Given the description of an element on the screen output the (x, y) to click on. 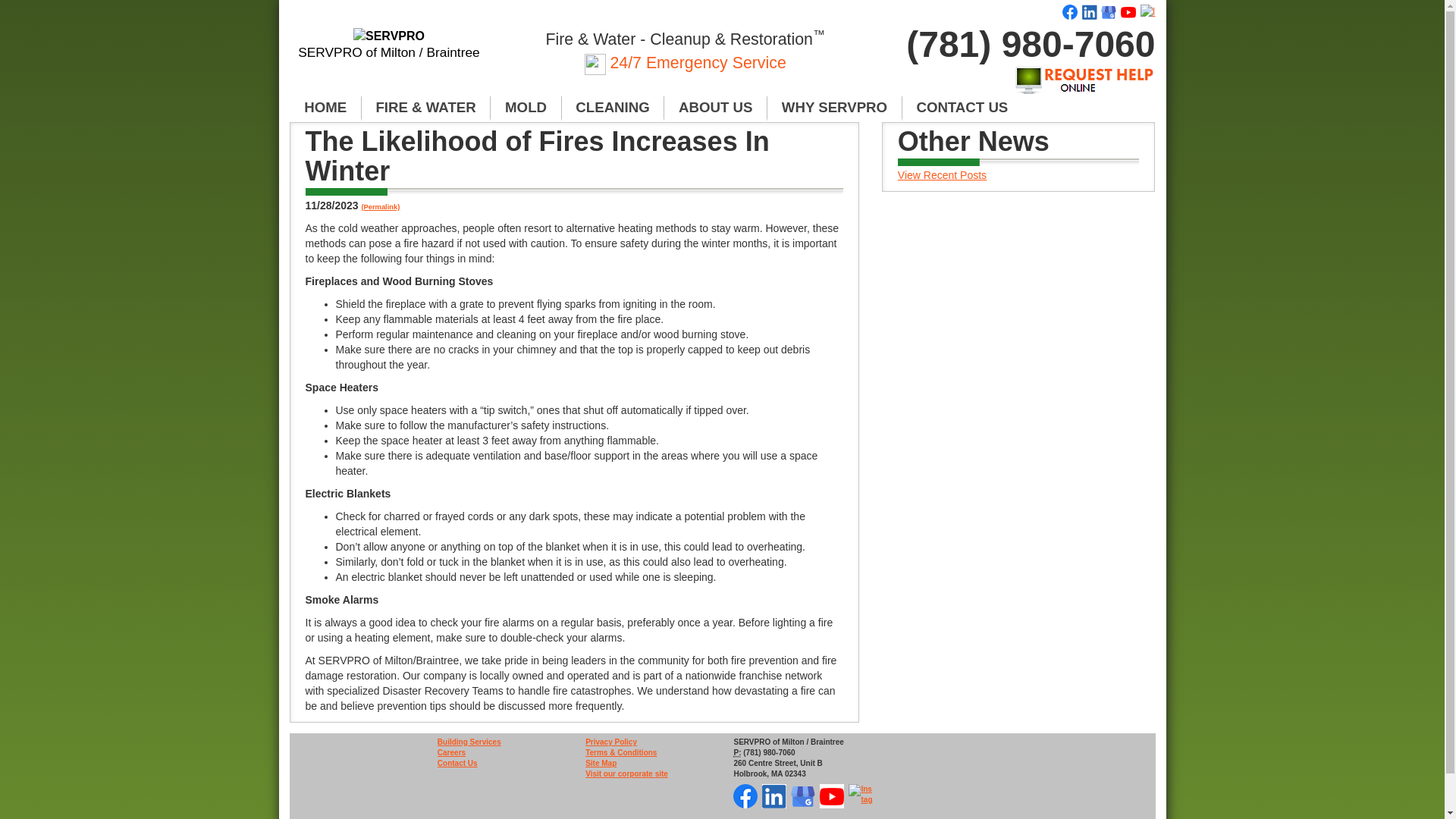
ABOUT US (715, 108)
CLEANING (613, 108)
MOLD (525, 108)
HOME (325, 108)
